Given the description of an element on the screen output the (x, y) to click on. 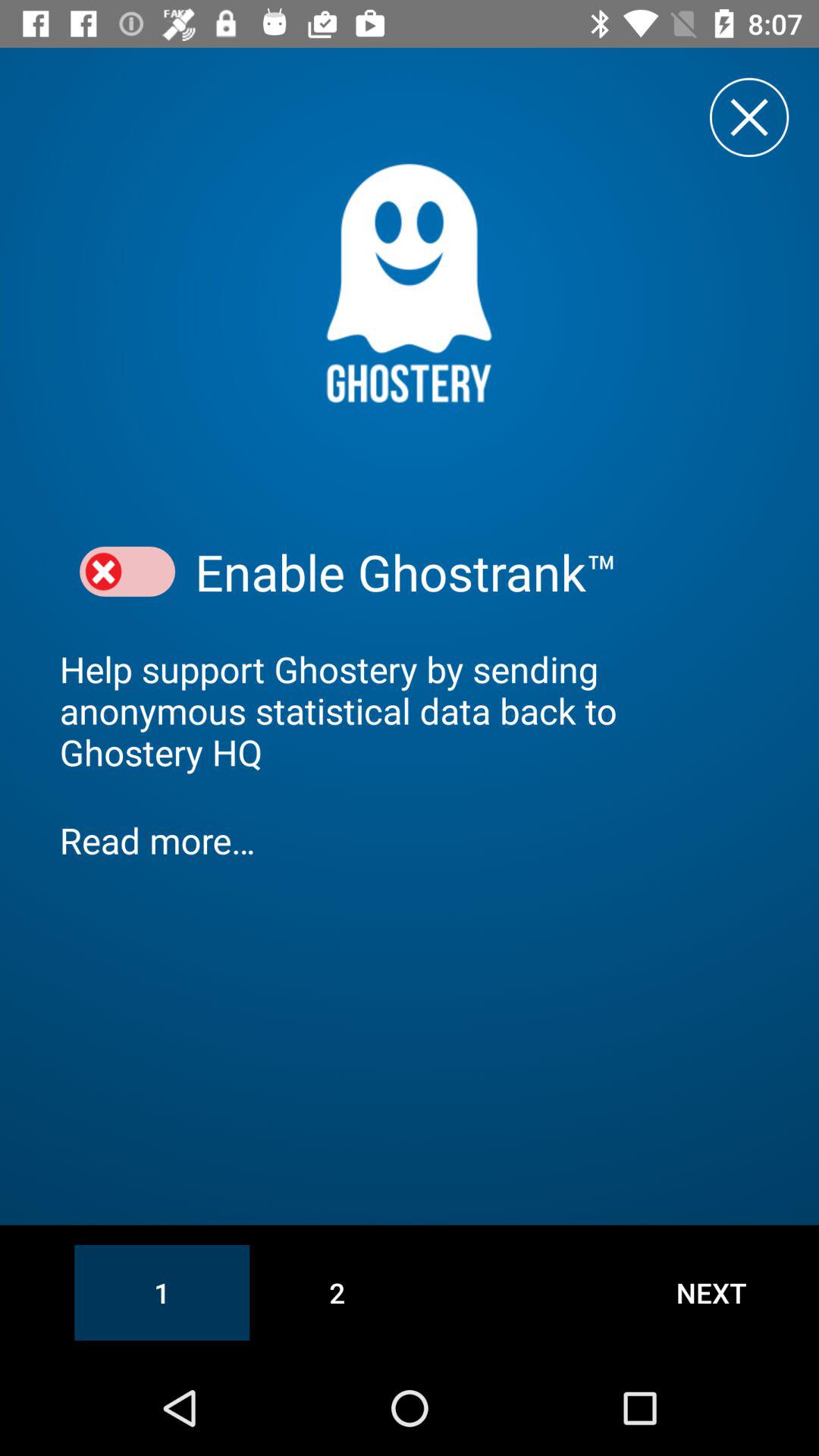
choose the icon at the bottom left corner (161, 1292)
